Given the description of an element on the screen output the (x, y) to click on. 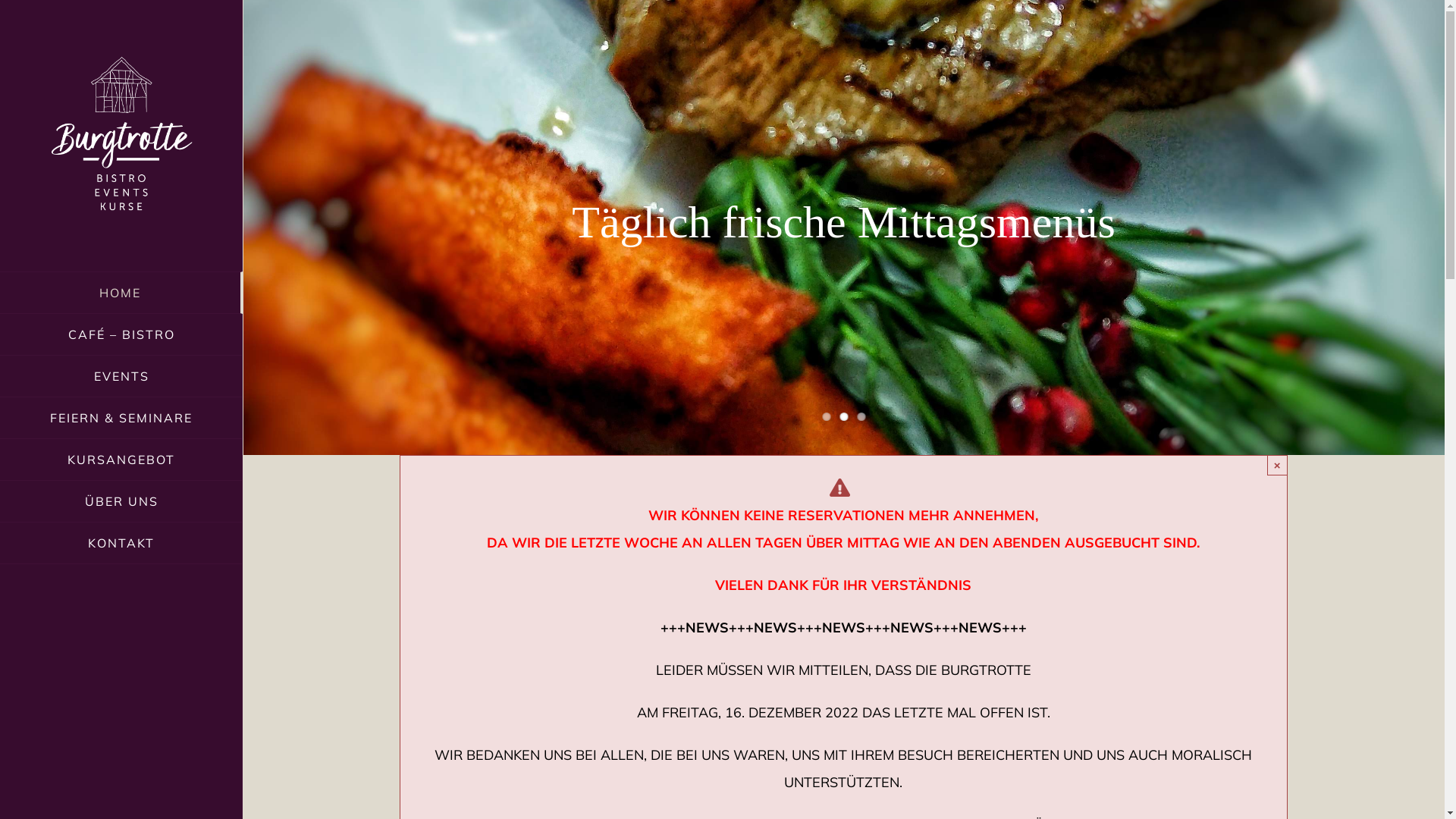
1 Element type: text (826, 416)
3 Element type: text (860, 416)
FEIERN & SEMINARE Element type: text (121, 418)
HOME Element type: text (121, 292)
KONTAKT Element type: text (121, 543)
KURSANGEBOT Element type: text (121, 459)
EVENTS Element type: text (121, 376)
2 Element type: text (843, 416)
